Given the description of an element on the screen output the (x, y) to click on. 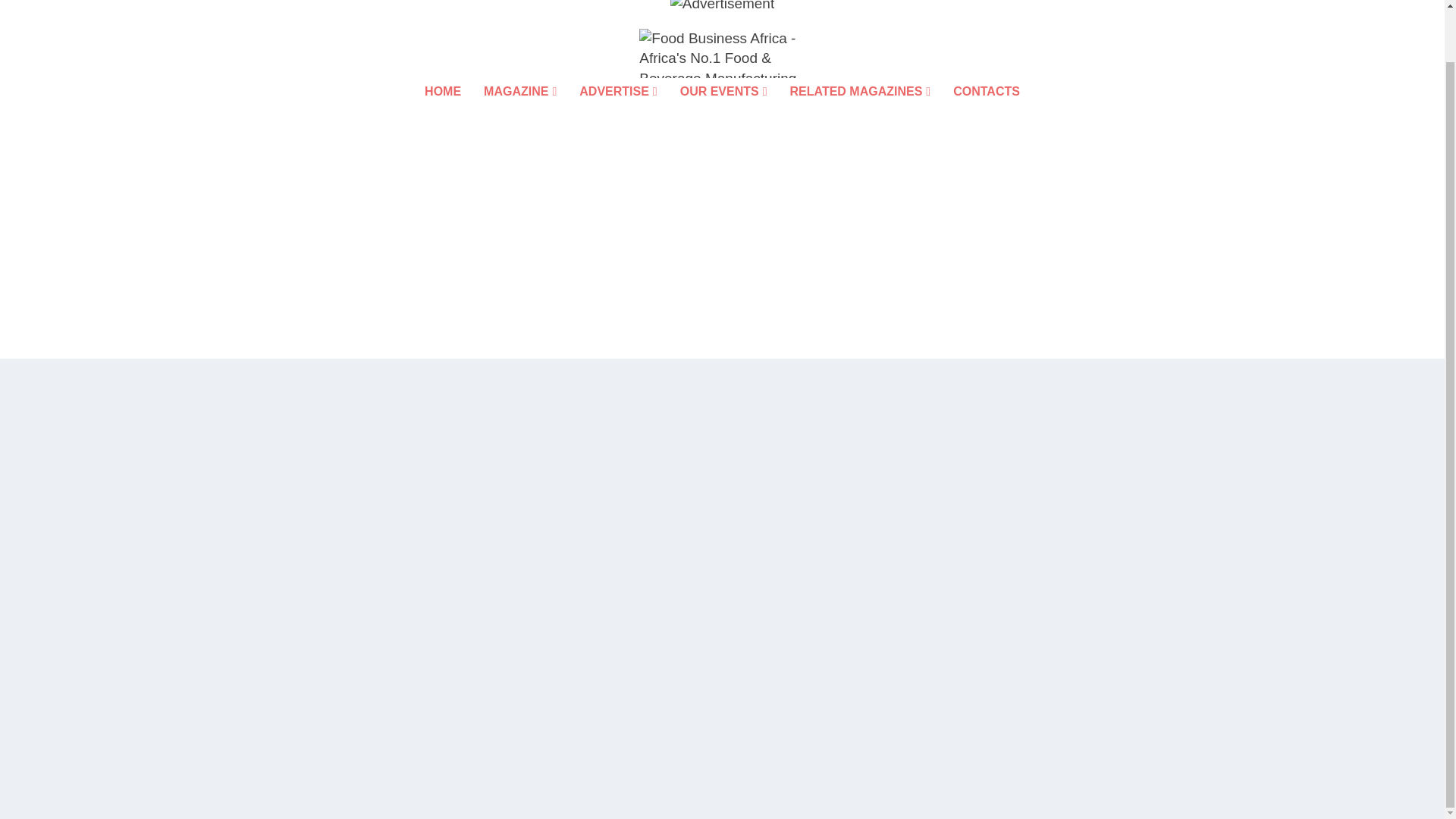
RELATED MAGAZINES (860, 111)
CONTACTS (986, 111)
MAGAZINE (519, 111)
OUR EVENTS (723, 111)
ADVERTISE (617, 111)
